Given the description of an element on the screen output the (x, y) to click on. 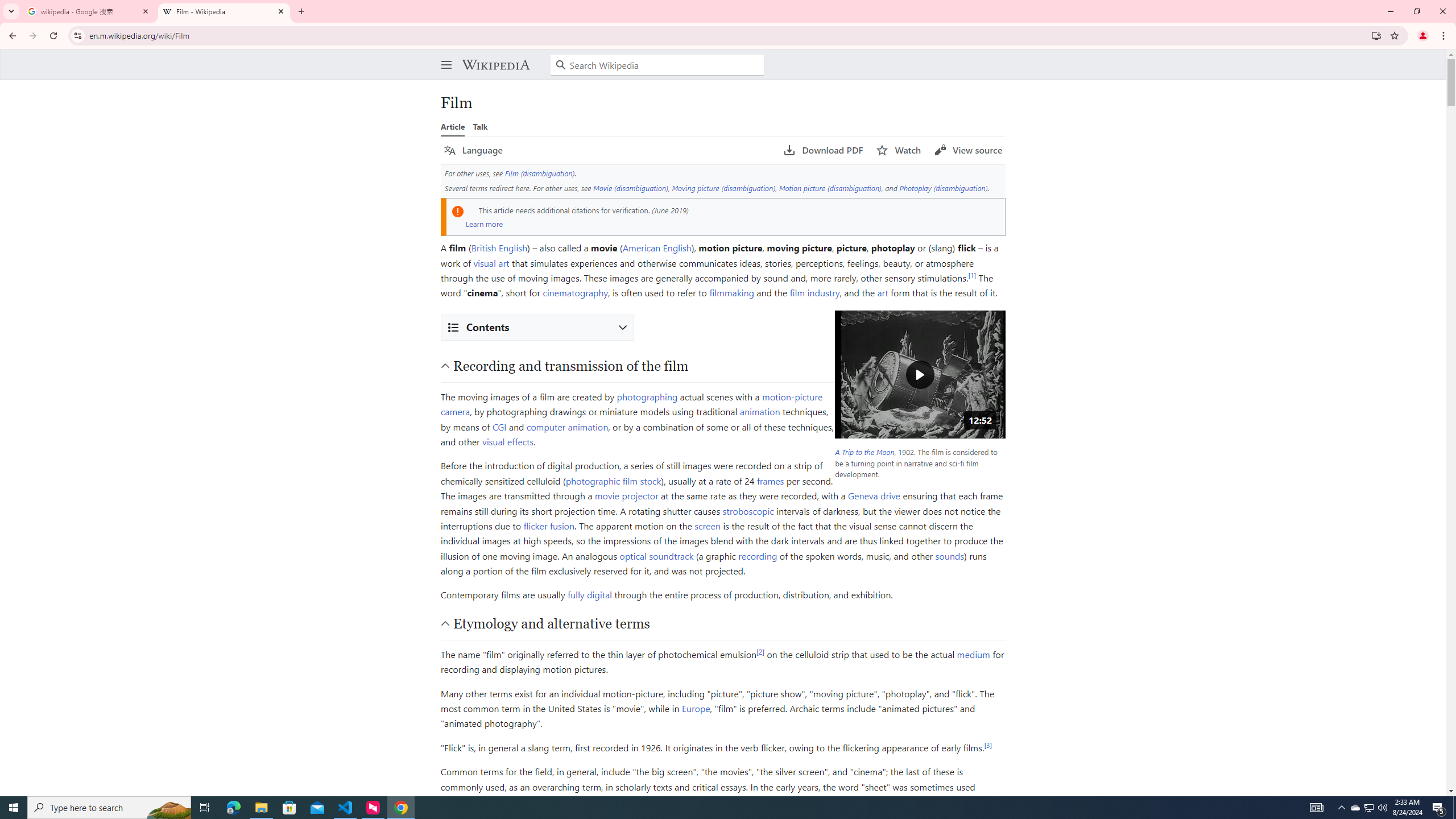
photographing (646, 395)
Article (452, 126)
frames (770, 480)
Geneva drive (873, 495)
optical soundtrack (656, 555)
Install Wikipedia (1376, 35)
computer animation (566, 426)
CGI (499, 426)
Search Wikipedia (657, 64)
View source (968, 149)
Photoplay (disambiguation) (943, 188)
stock (650, 480)
